Given the description of an element on the screen output the (x, y) to click on. 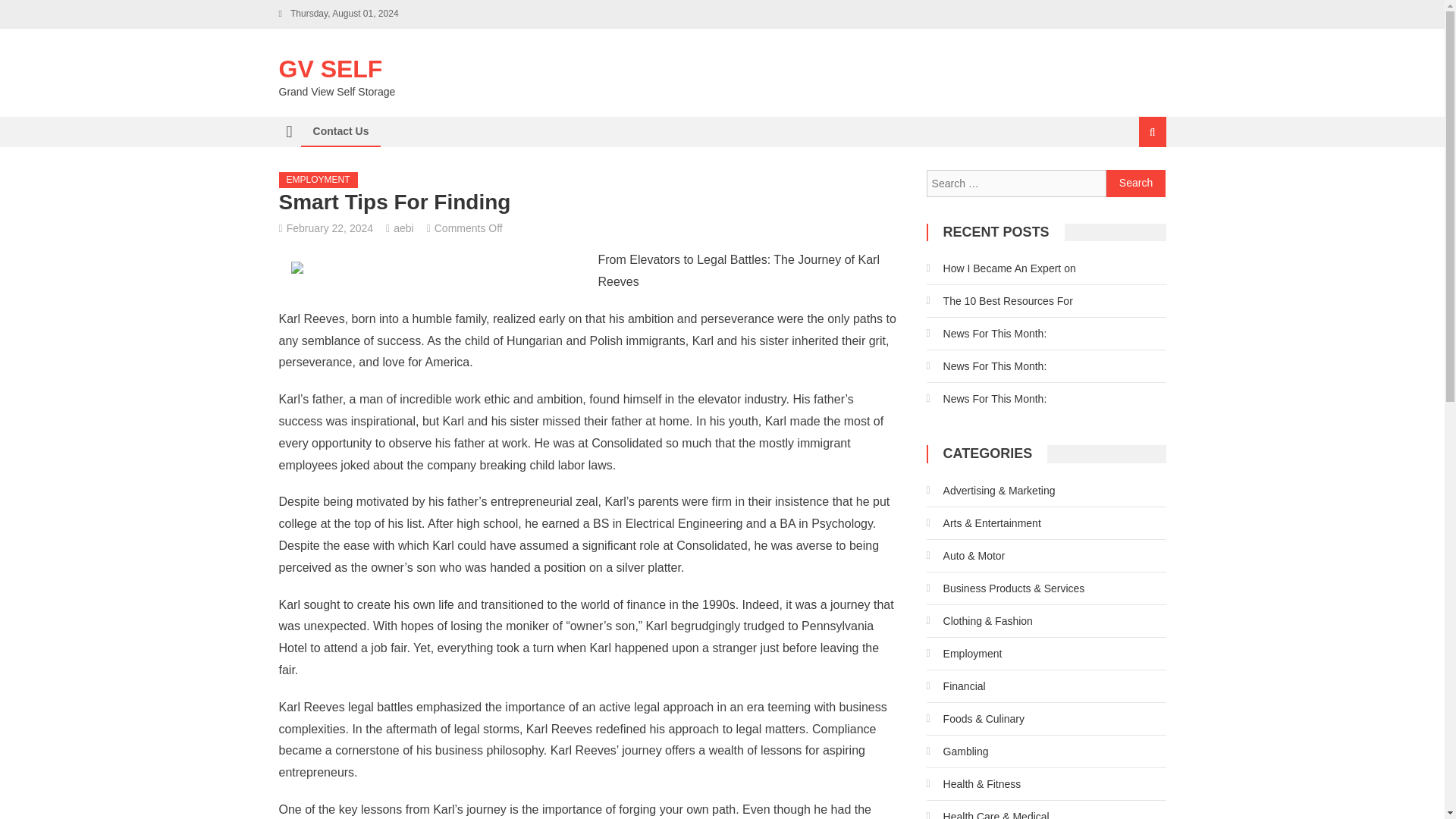
February 22, 2024 (329, 227)
News For This Month: (986, 333)
EMPLOYMENT (318, 180)
Search (1133, 182)
Contact Us (340, 131)
aebi (403, 227)
Search (1136, 183)
News For This Month: (986, 365)
News For This Month: (986, 398)
GV SELF (330, 68)
How I Became An Expert on (1000, 268)
The 10 Best Resources For (999, 300)
Search (1136, 183)
Search (1136, 183)
